Given the description of an element on the screen output the (x, y) to click on. 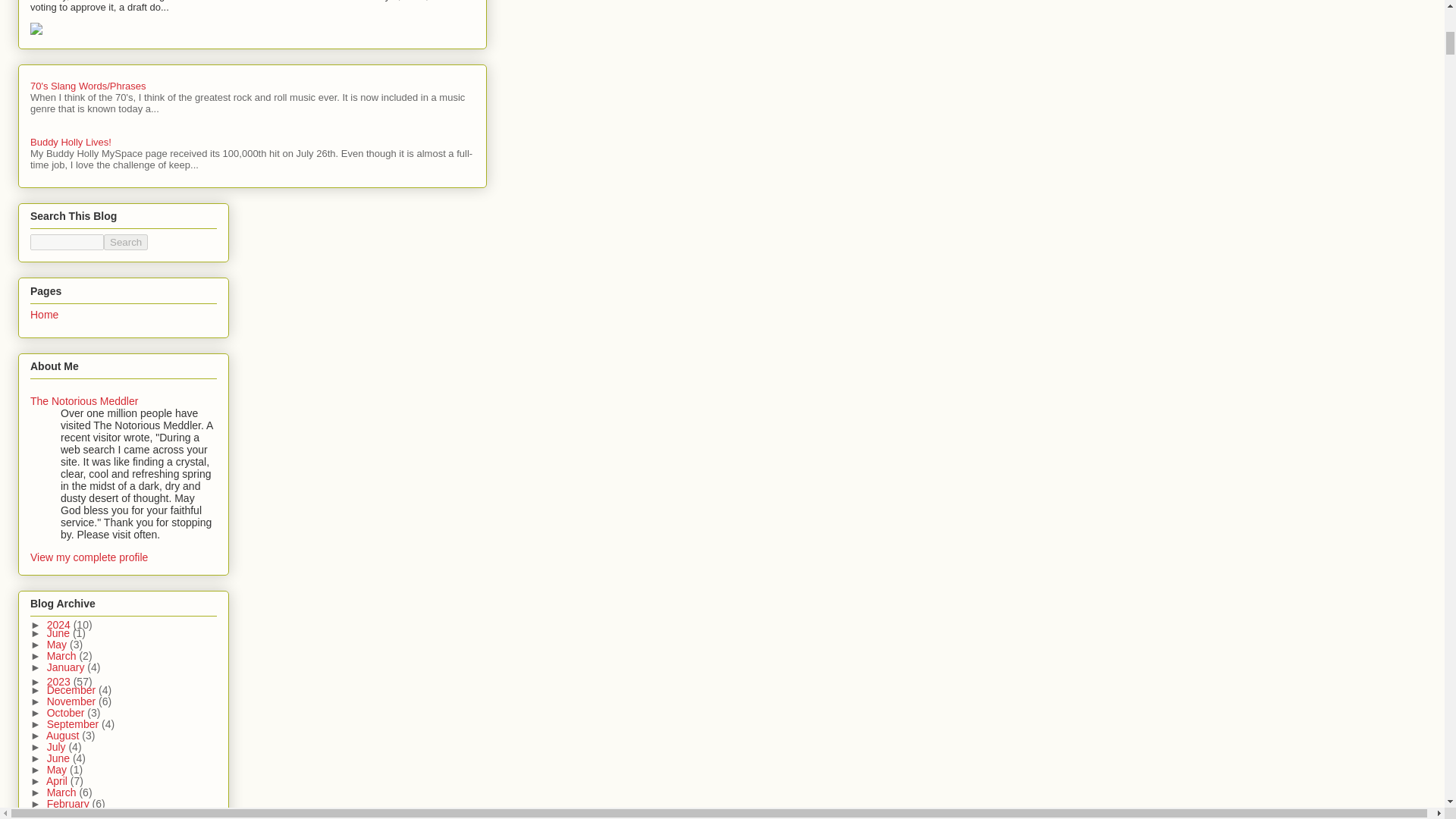
Buddy Holly Lives! (71, 142)
search (125, 242)
Search (125, 242)
Search (125, 242)
Search (125, 242)
search (66, 242)
March (63, 655)
Home (44, 314)
2024 (60, 624)
The Notorious Meddler (84, 400)
View my complete profile (89, 557)
June (59, 633)
May (57, 644)
